Given the description of an element on the screen output the (x, y) to click on. 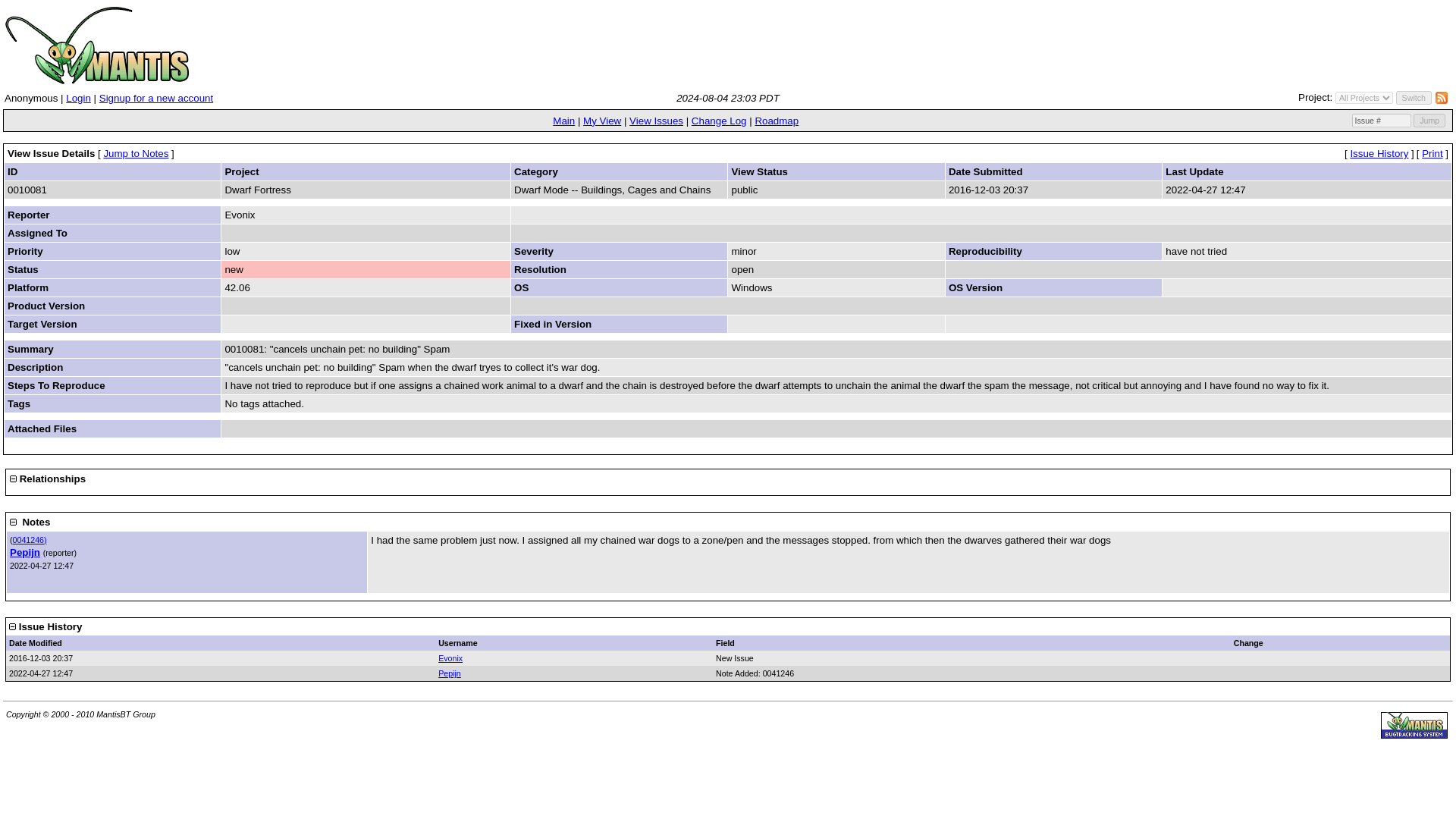
Switch (1413, 97)
Login (77, 98)
Direct link to note (29, 539)
Jump (1429, 120)
Pepijn (449, 673)
View Issues (655, 120)
Main (564, 120)
Jump (1429, 120)
My View (602, 120)
Attached Files (42, 428)
Issue History (1378, 153)
Print (1432, 153)
Change Log (718, 120)
Switch (1413, 97)
Pepijn (25, 552)
